Given the description of an element on the screen output the (x, y) to click on. 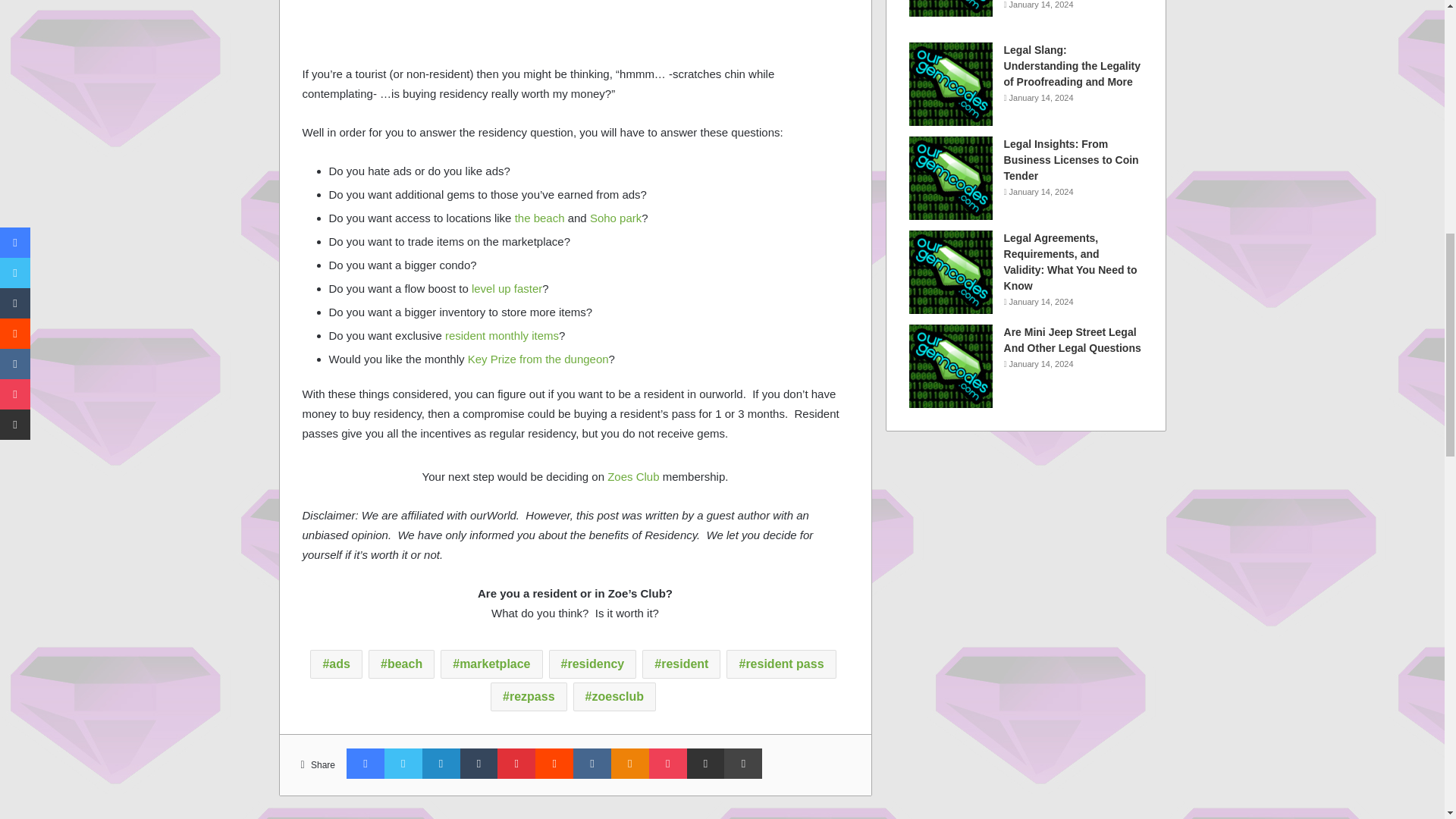
Soho park (615, 217)
the beach (539, 217)
level up faster (506, 287)
